Given the description of an element on the screen output the (x, y) to click on. 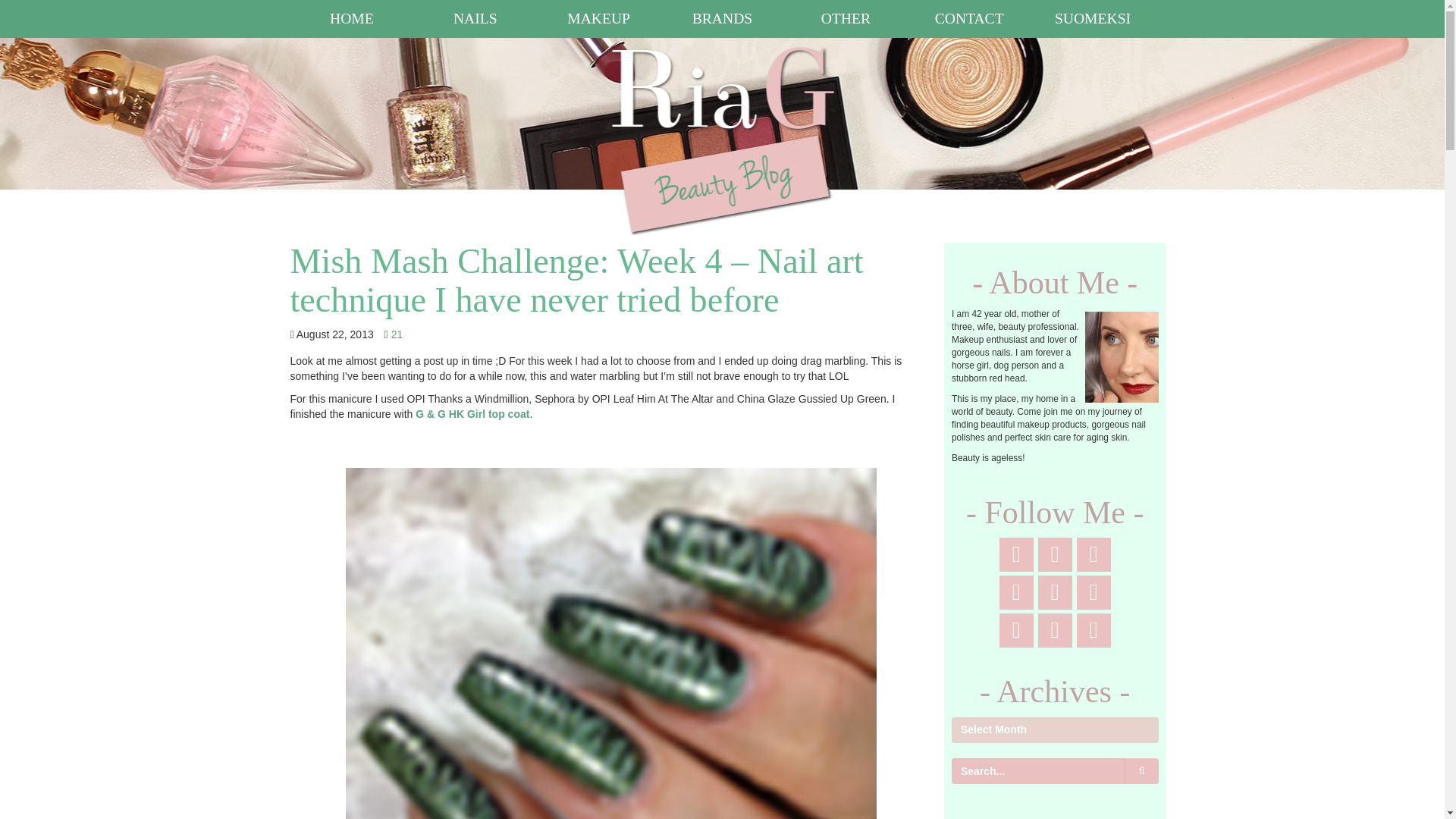
HOME (351, 18)
Search for: (1038, 770)
BRANDS (722, 18)
MAKEUP (599, 18)
NAILS (475, 18)
